Given the description of an element on the screen output the (x, y) to click on. 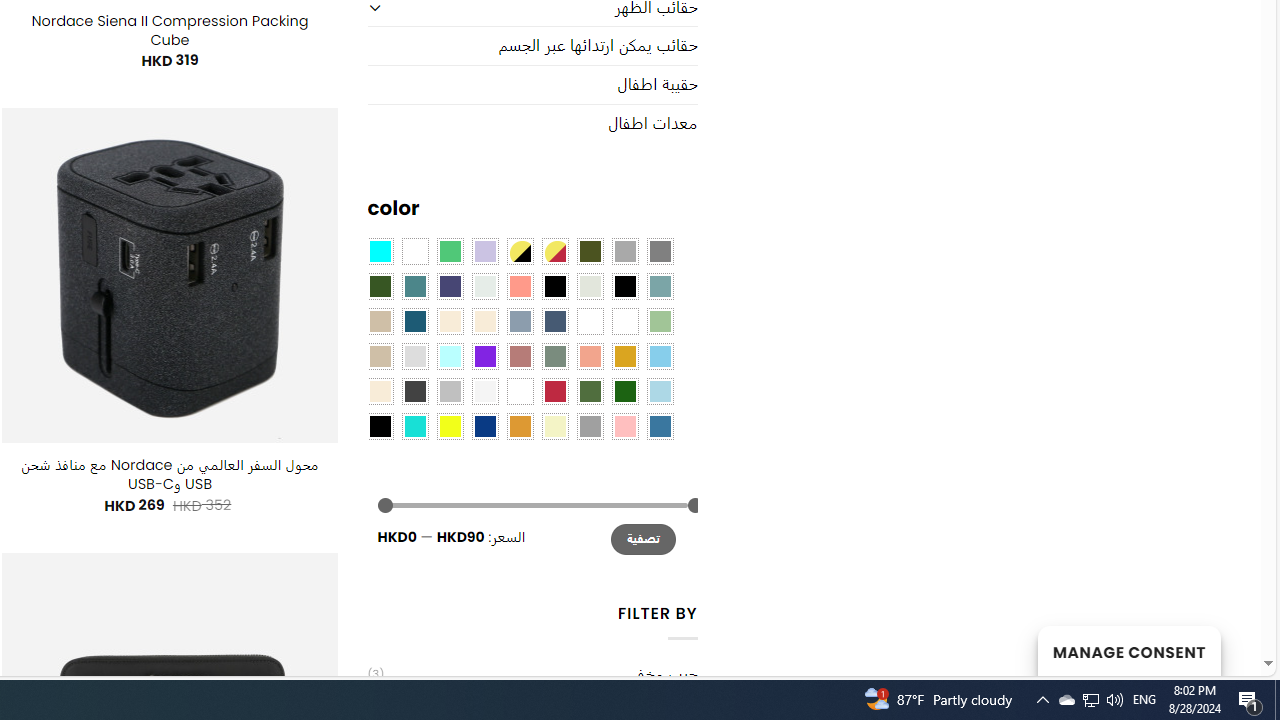
Light Purple (484, 251)
Mint (449, 355)
Ash Gray (589, 285)
MANAGE CONSENT (1128, 650)
Hale Navy (554, 321)
Yellow-Black (519, 251)
Dusty Blue (519, 321)
Purple (484, 355)
All Black (554, 285)
Aqua Blue (379, 251)
